Given the description of an element on the screen output the (x, y) to click on. 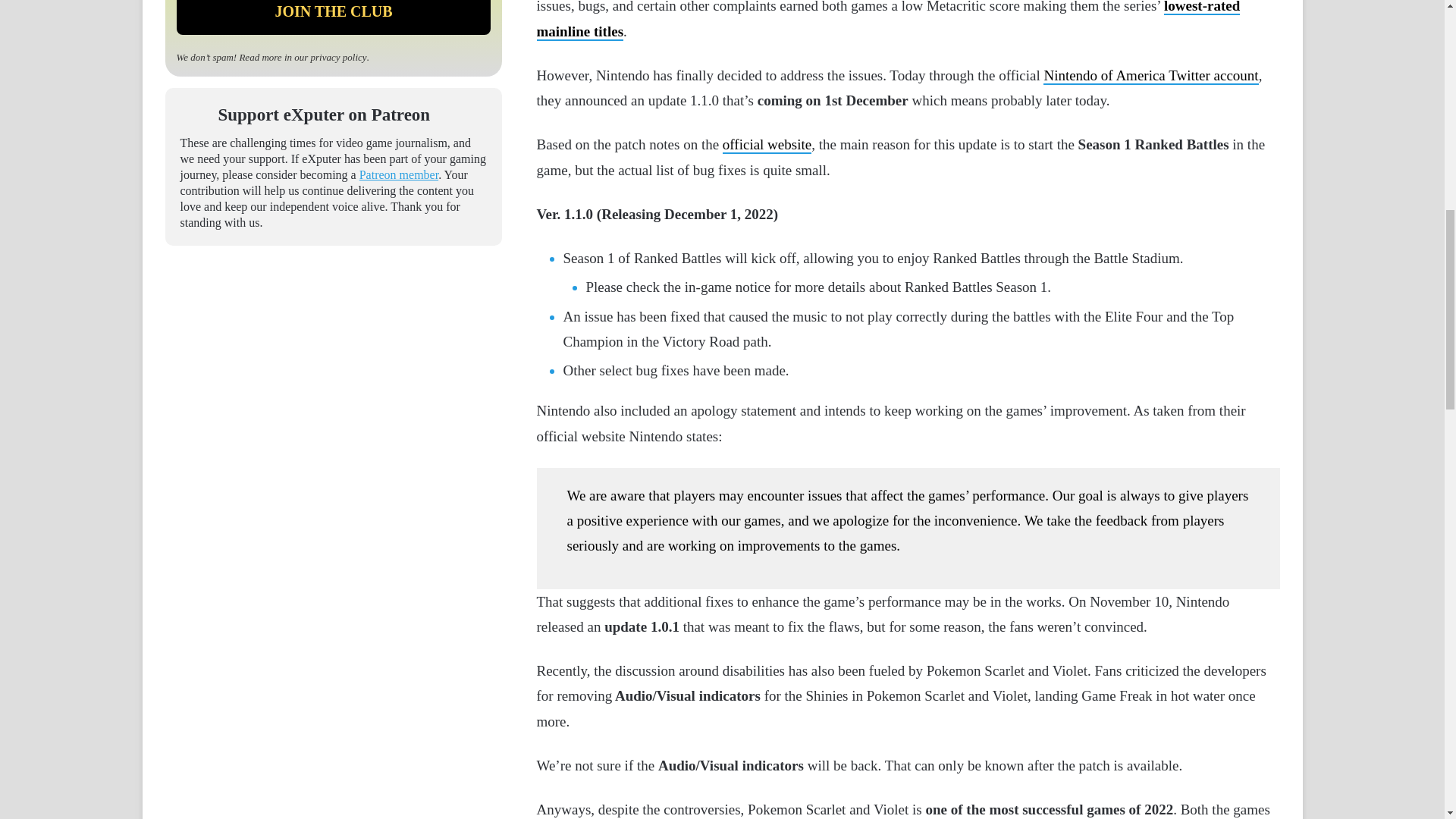
JOIN THE  CLUB (333, 17)
